Given the description of an element on the screen output the (x, y) to click on. 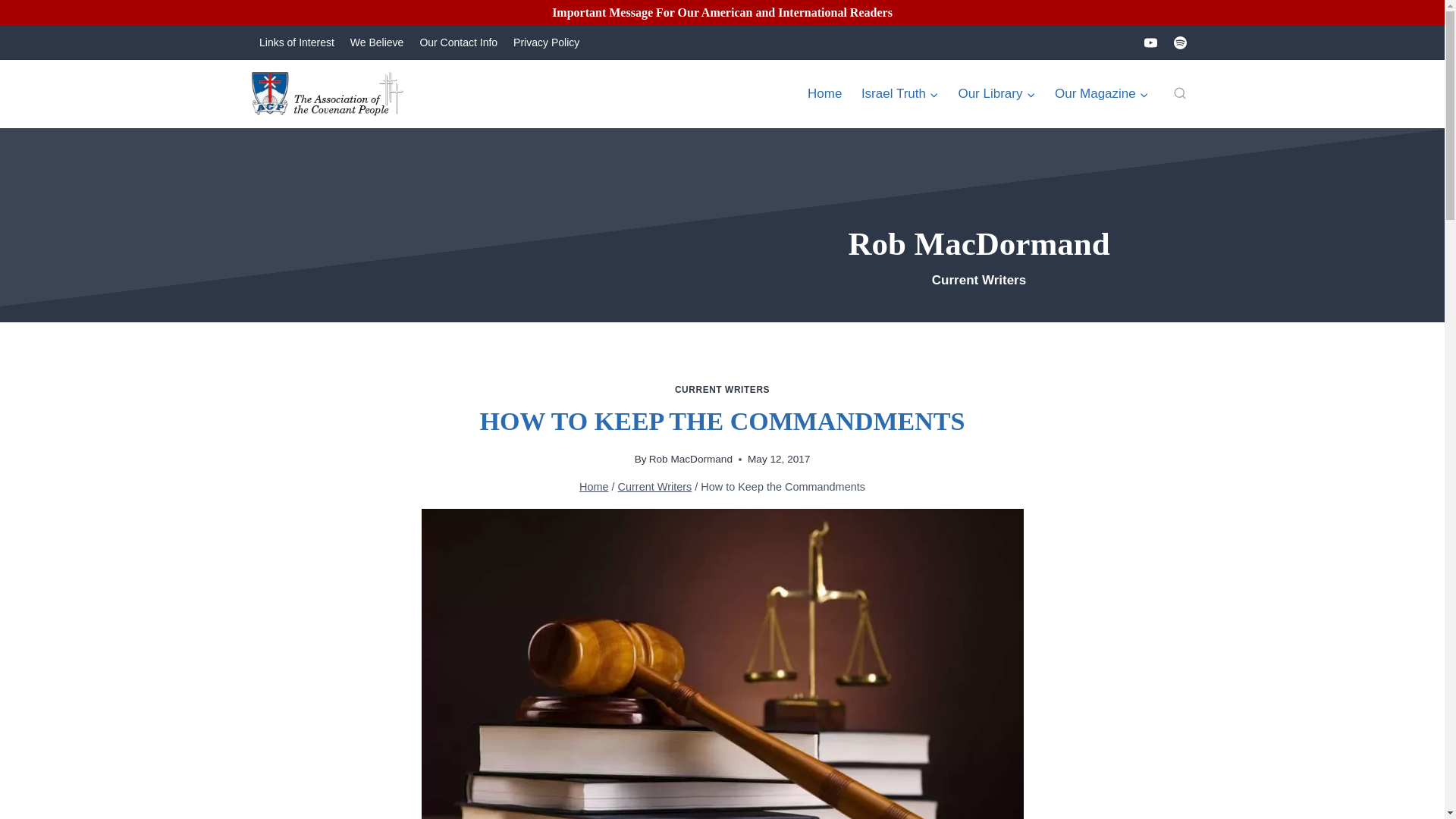
We Believe (377, 42)
Our Library (997, 93)
Privacy Policy (546, 42)
Links of Interest (296, 42)
Israel Truth (900, 93)
Our Contact Info (458, 42)
Important Message For Our American and International Readers (722, 13)
